Given the description of an element on the screen output the (x, y) to click on. 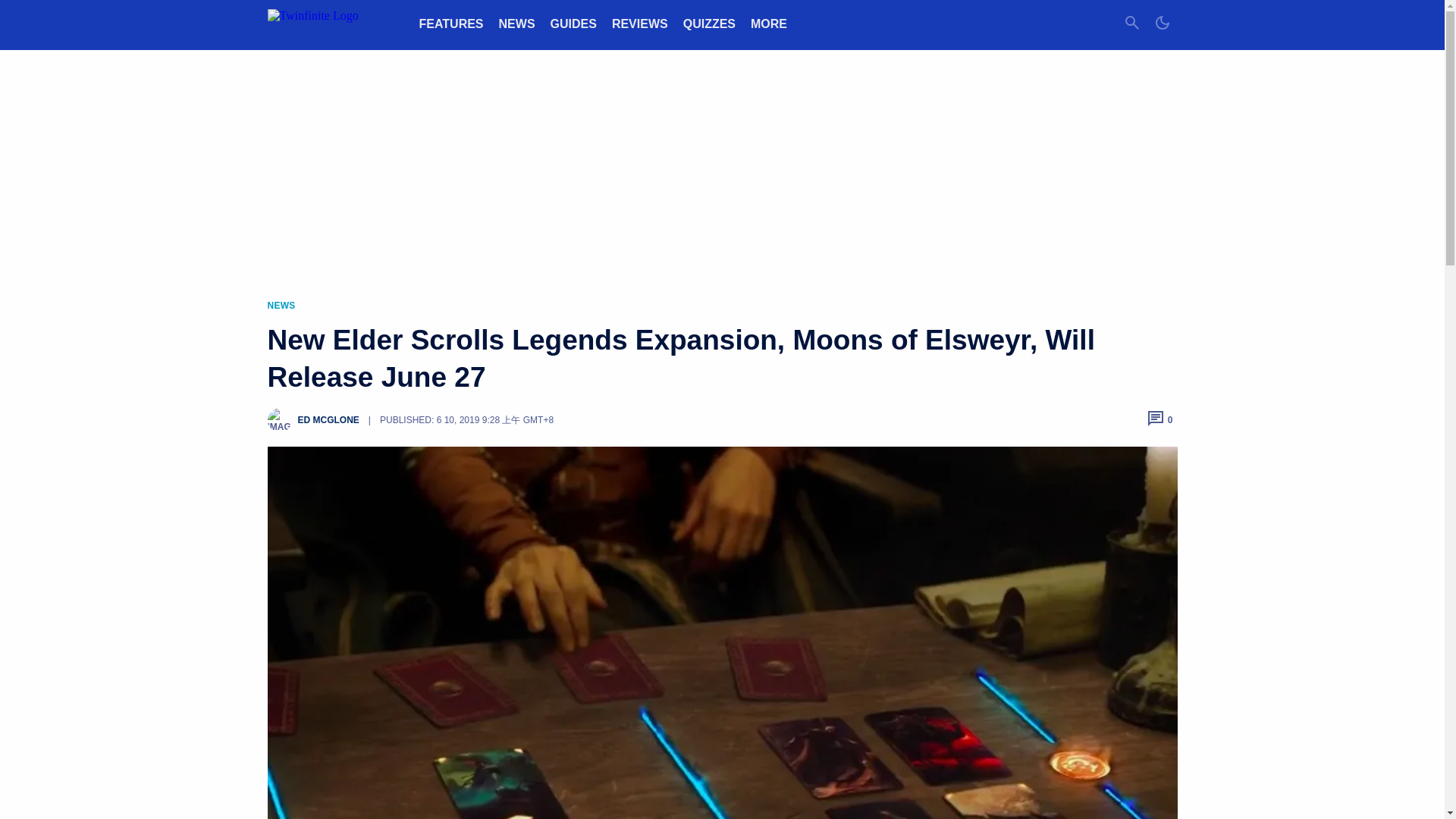
Dark Mode (1161, 23)
QUIZZES (708, 23)
FEATURES (451, 23)
Search (1131, 23)
GUIDES (573, 23)
NEWS (517, 23)
REVIEWS (639, 23)
